Given the description of an element on the screen output the (x, y) to click on. 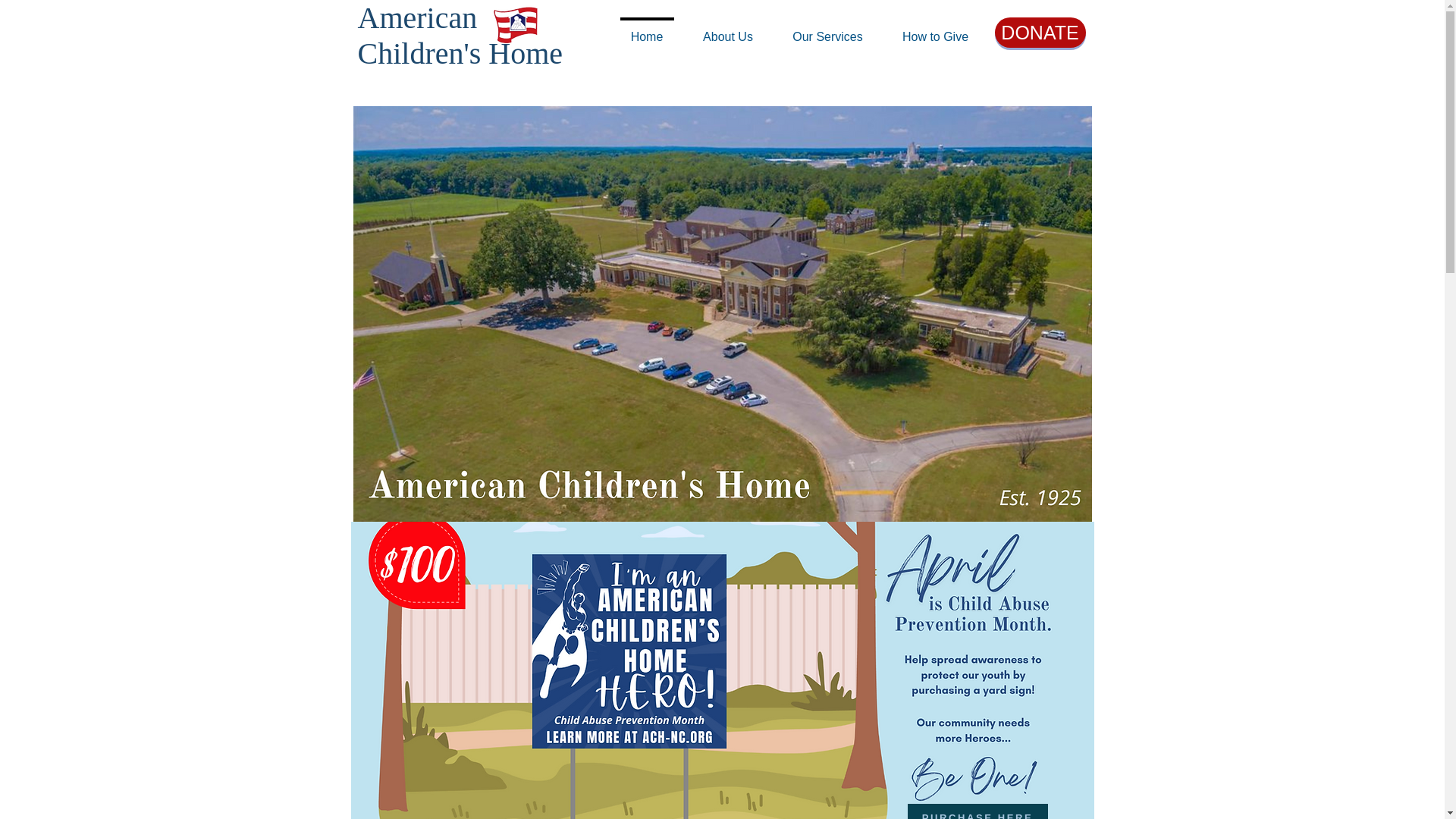
About Us (727, 29)
American Children's Home (460, 34)
PURCHASE HERE (976, 811)
Our Services (827, 29)
How to Give (935, 29)
DONATE (1040, 32)
Home (646, 29)
